Given the description of an element on the screen output the (x, y) to click on. 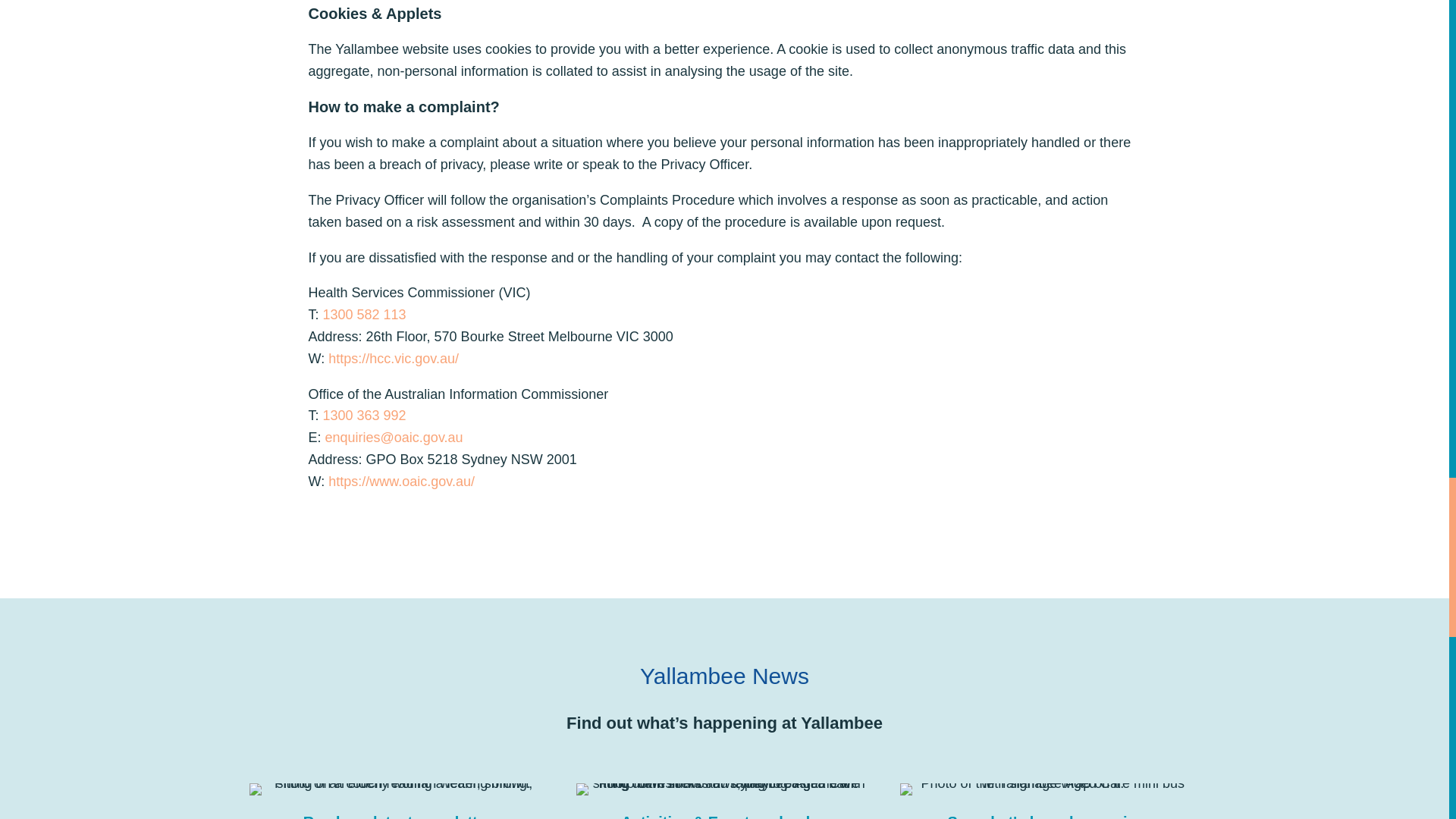
Yallambee-small-activity (722, 788)
Yallambee-small-bus (1046, 788)
Yallambee-small-lady-letter (396, 788)
